Given the description of an element on the screen output the (x, y) to click on. 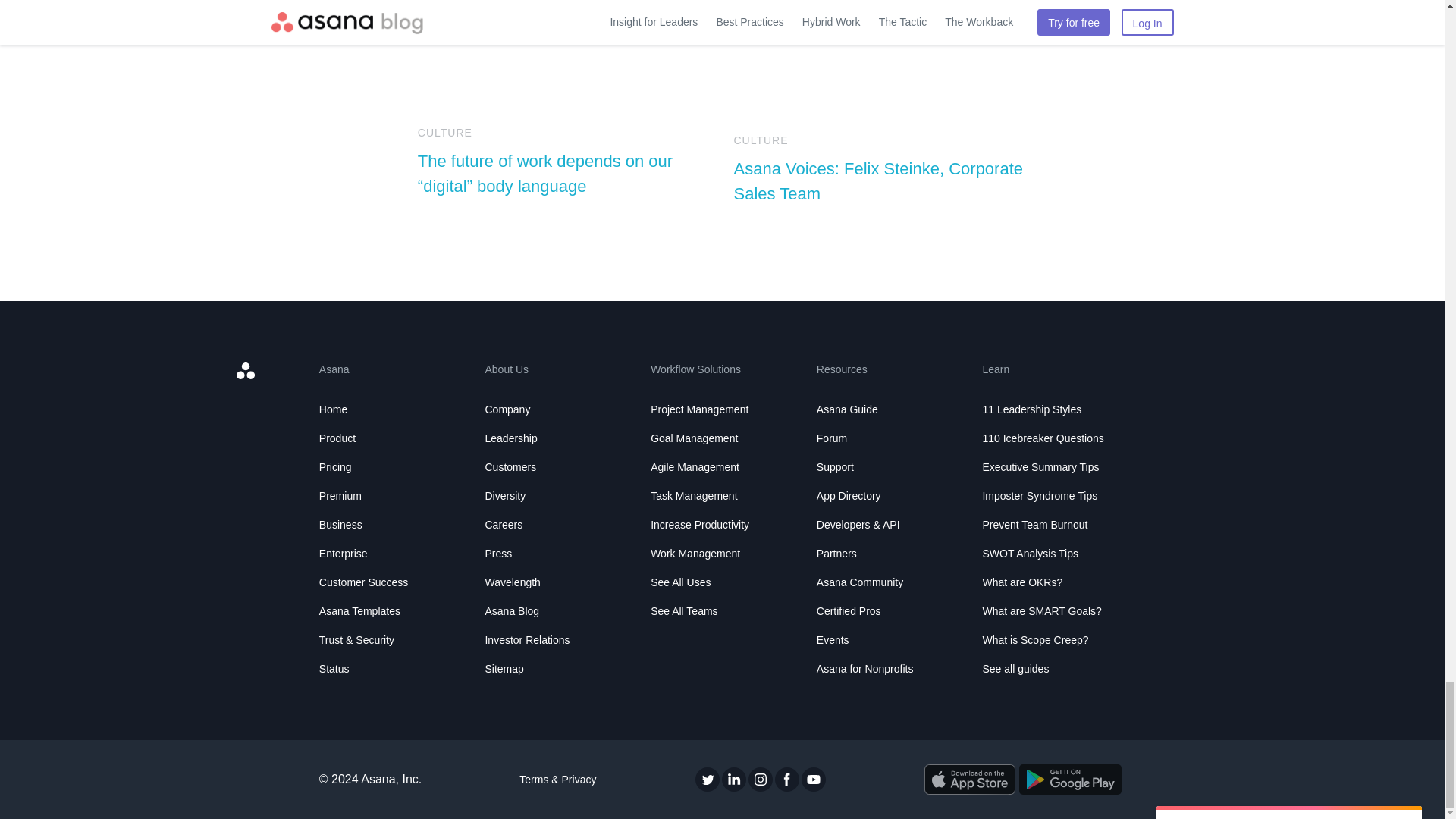
Download App (969, 779)
Download App (1070, 779)
Copyright (370, 779)
